Given the description of an element on the screen output the (x, y) to click on. 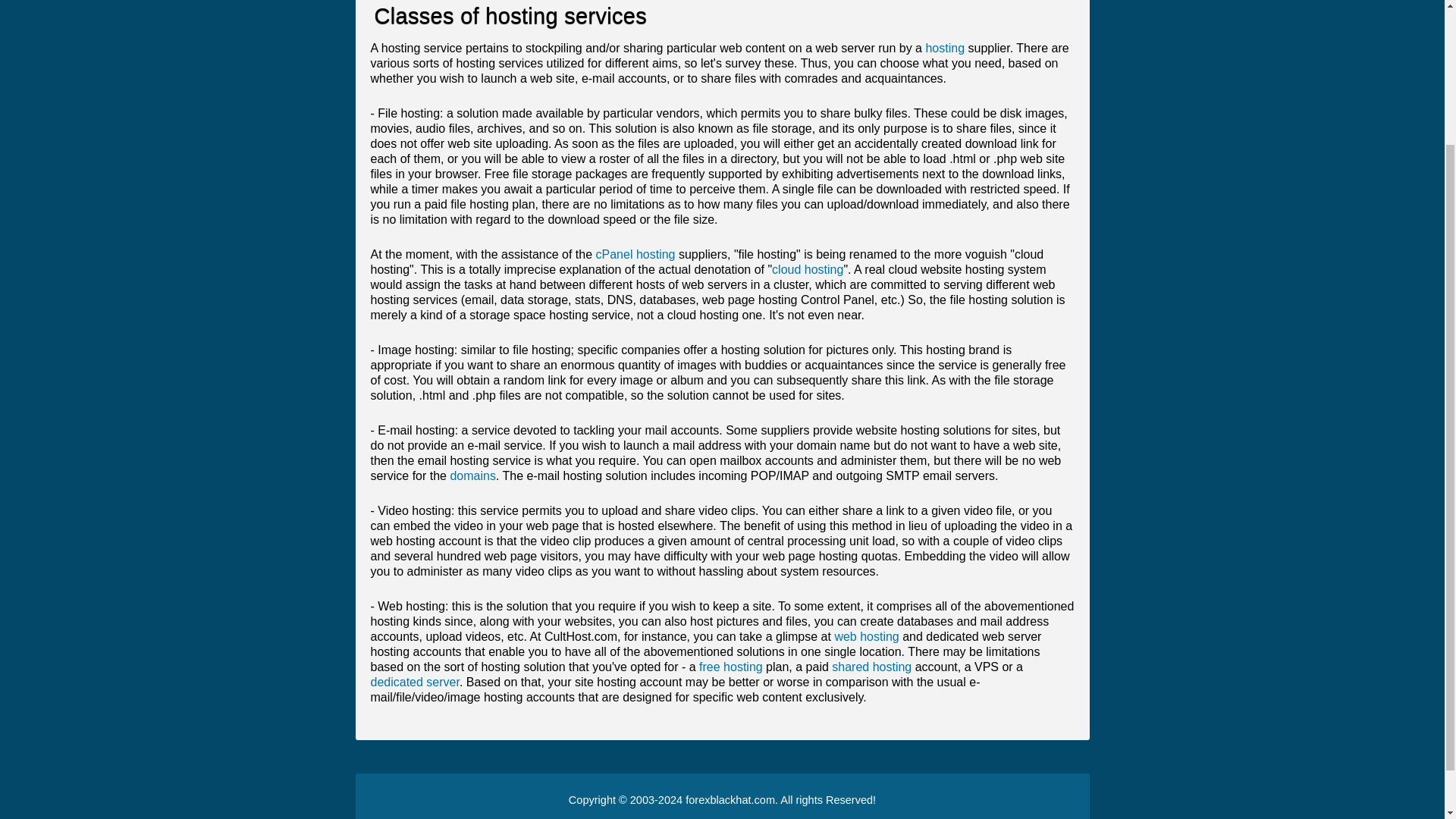
cPanel hosting (635, 254)
domains (472, 475)
dedicated server (413, 681)
web hosting (866, 635)
free hosting (730, 666)
hosting (943, 47)
forexblackhat.com (729, 799)
cloud hosting (807, 269)
shared hosting (871, 666)
